Given the description of an element on the screen output the (x, y) to click on. 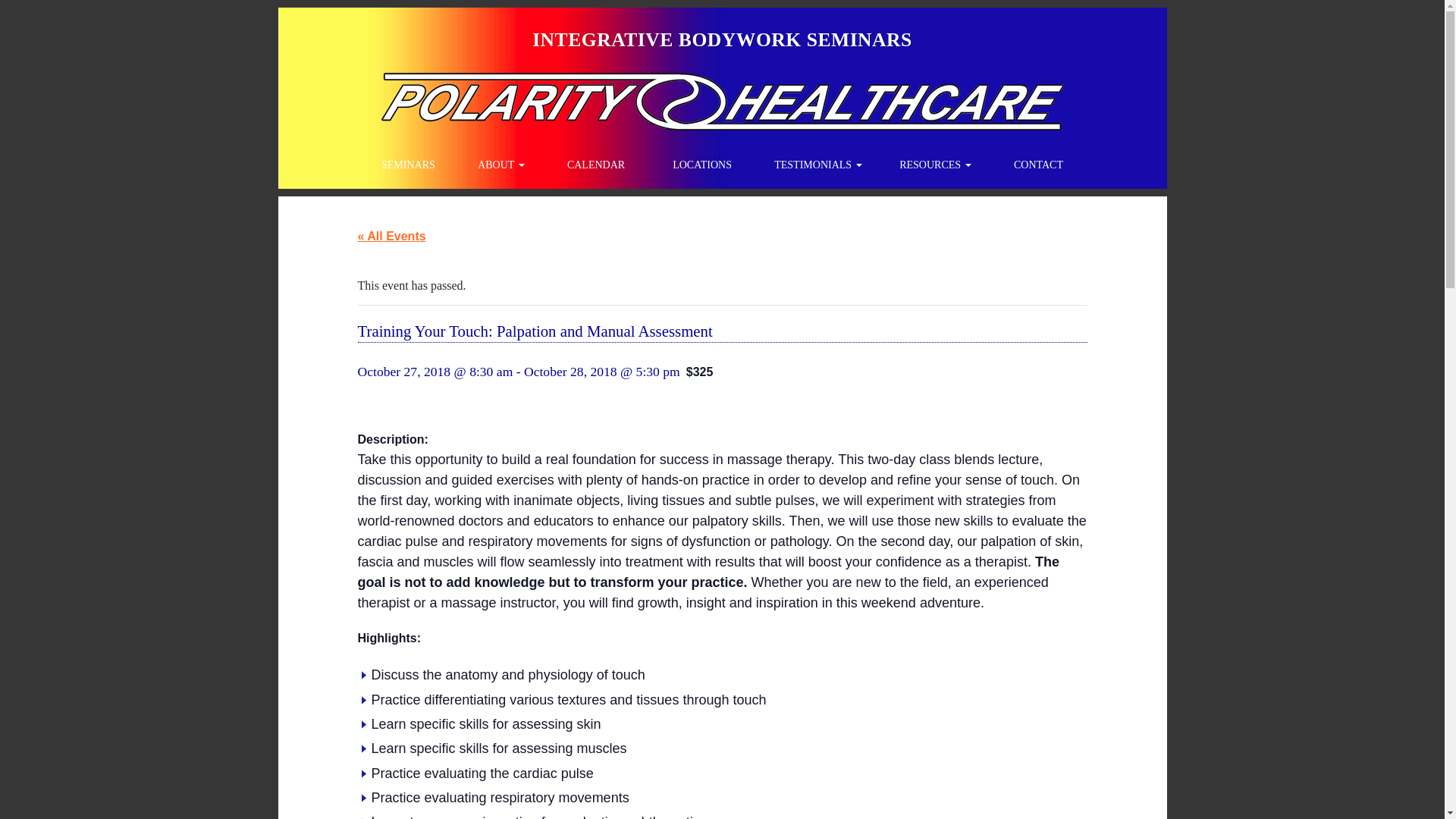
LOCATIONS (702, 165)
Polarity Healthcare (721, 99)
CALENDAR (595, 165)
SEMINARS (409, 165)
Polarity Healthcare (722, 39)
RESOURCES (935, 165)
TESTIMONIALS (817, 165)
ABOUT (500, 165)
